Given the description of an element on the screen output the (x, y) to click on. 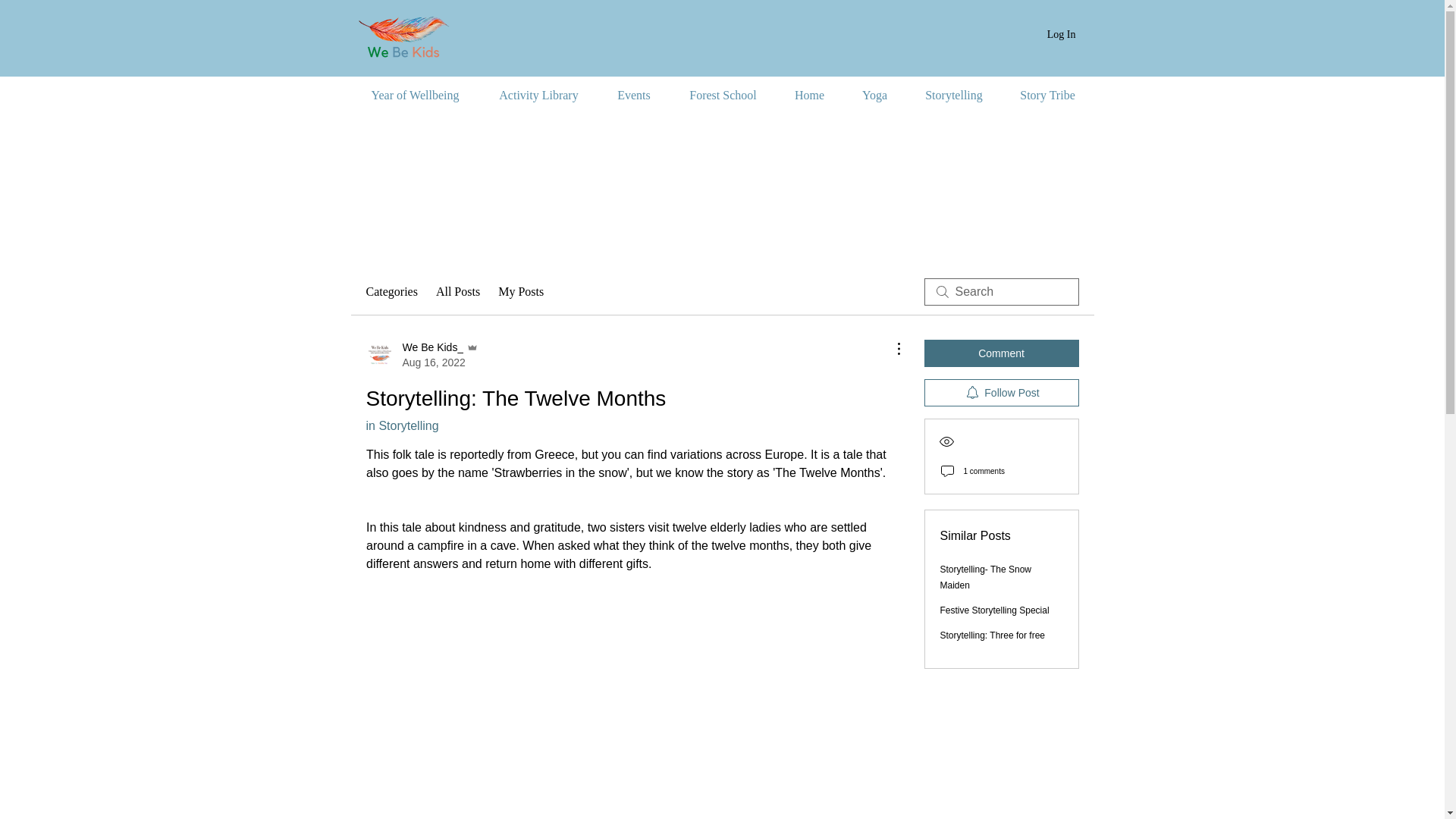
Storytelling: Three for free (992, 634)
Activity Library (537, 95)
Home (809, 95)
Comment (1000, 352)
Story Tribe (1047, 95)
Log In (1061, 34)
Storytelling (954, 95)
Festive Storytelling Special (994, 610)
Events (632, 95)
Storytelling- The Snow Maiden (986, 577)
Categories (390, 291)
All Posts (457, 291)
Yoga (875, 95)
Follow Post (1000, 392)
Forest School (722, 95)
